Given the description of an element on the screen output the (x, y) to click on. 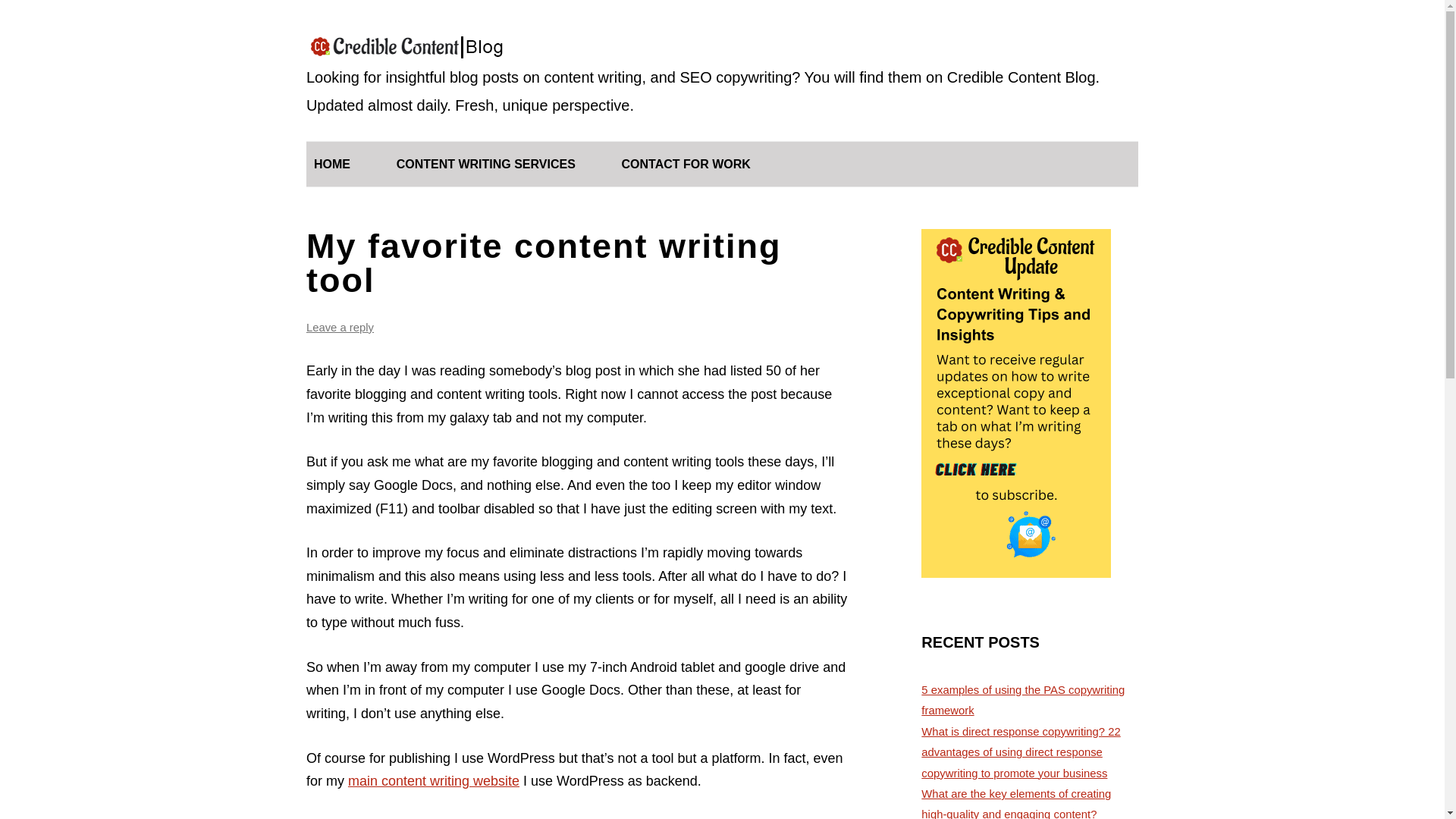
CONTACT FOR WORK (686, 163)
main content writing website (433, 780)
5 examples of using the PAS copywriting framework (1022, 699)
GetPocket (503, 818)
Leave a reply (339, 327)
CONTENT WRITING SERVICES (485, 163)
